Given the description of an element on the screen output the (x, y) to click on. 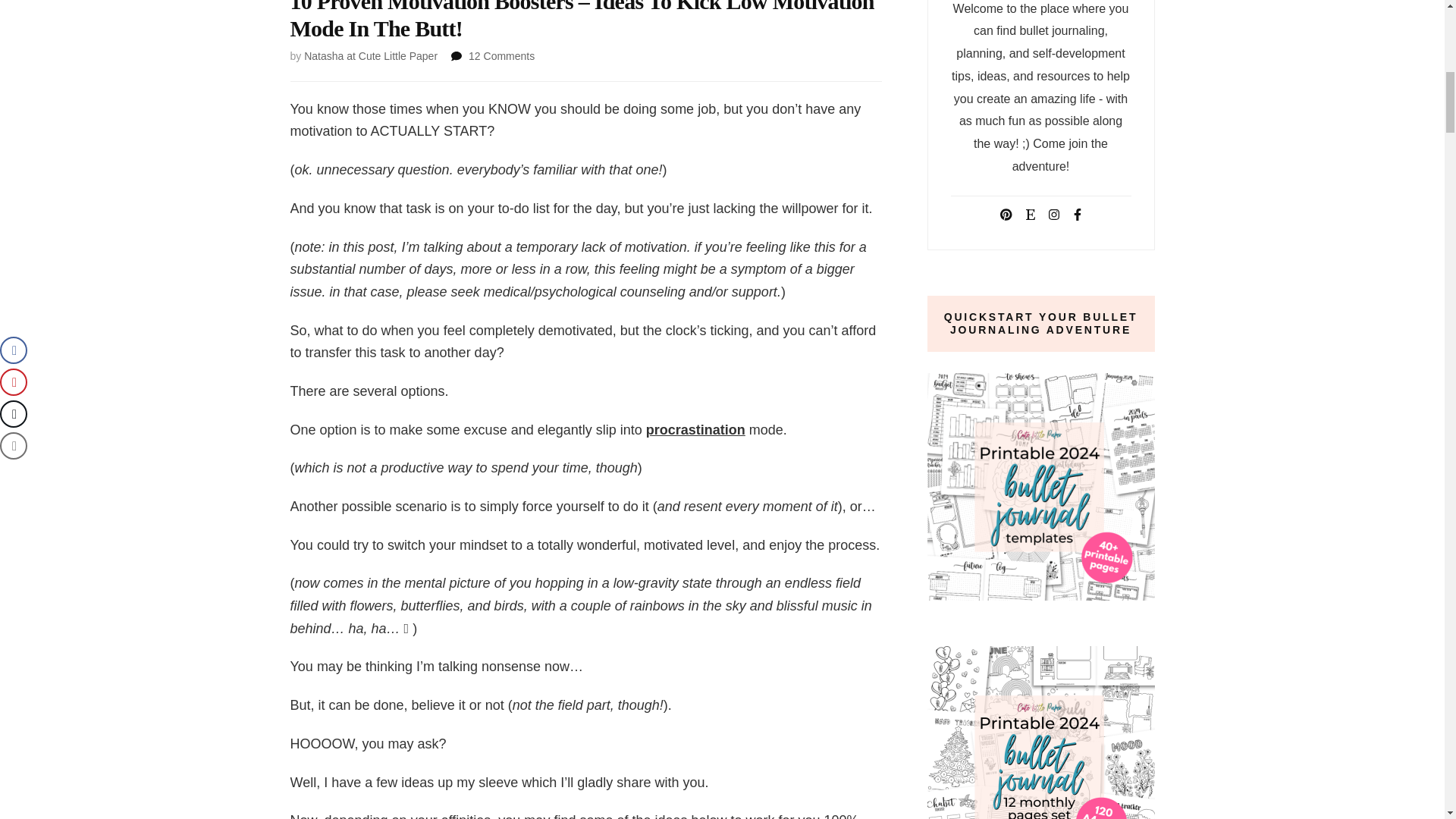
Natasha at Cute Little Paper (371, 55)
procrastination (695, 429)
